Given the description of an element on the screen output the (x, y) to click on. 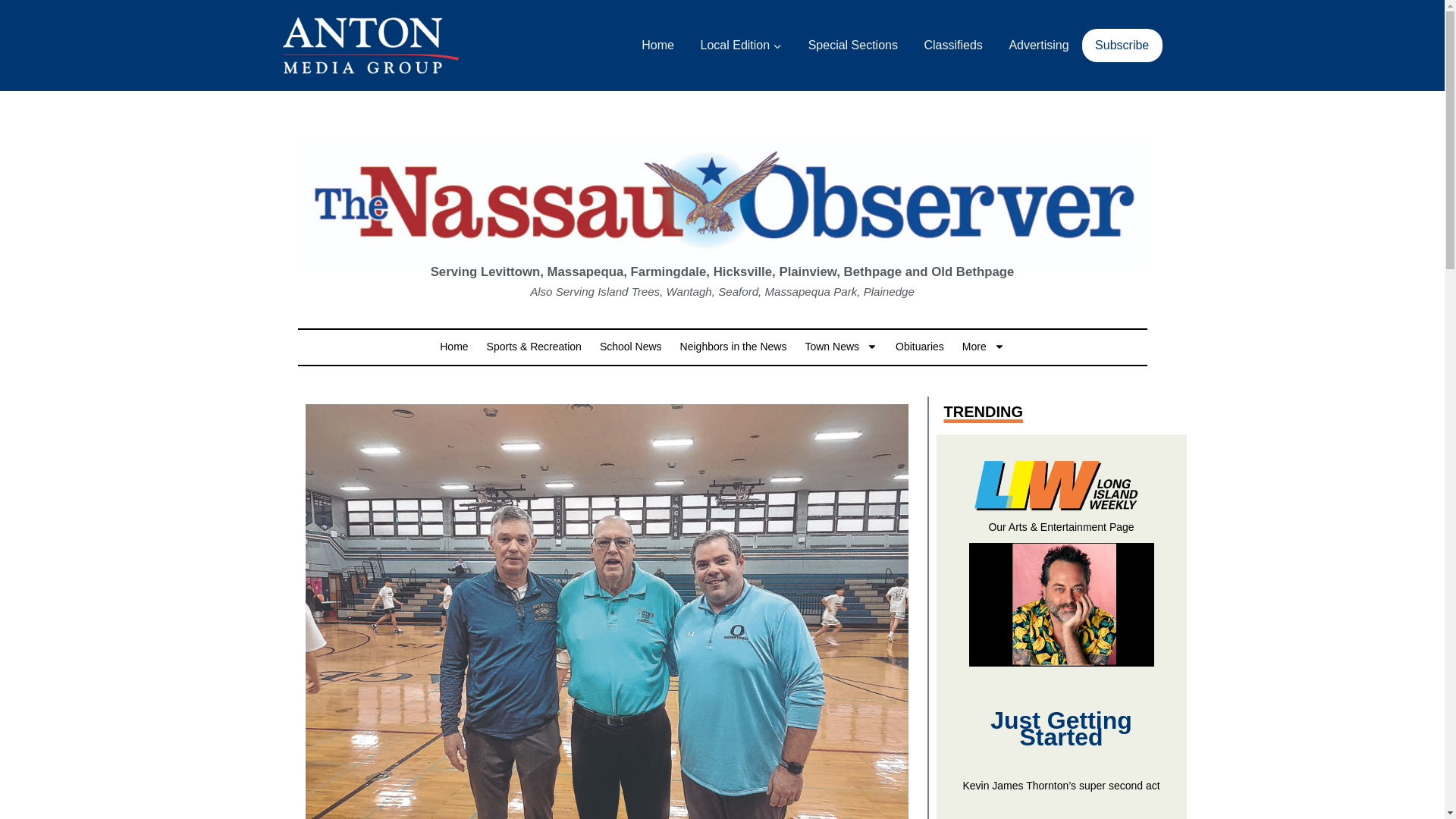
Home (453, 346)
Obituaries (919, 346)
Local Edition (740, 45)
Home (657, 45)
Advertising (1038, 45)
More (983, 346)
Special Sections (852, 45)
Classifieds (953, 45)
School News (630, 346)
Subscribe (1121, 45)
Neighbors in the News (733, 346)
Town News (841, 346)
